Given the description of an element on the screen output the (x, y) to click on. 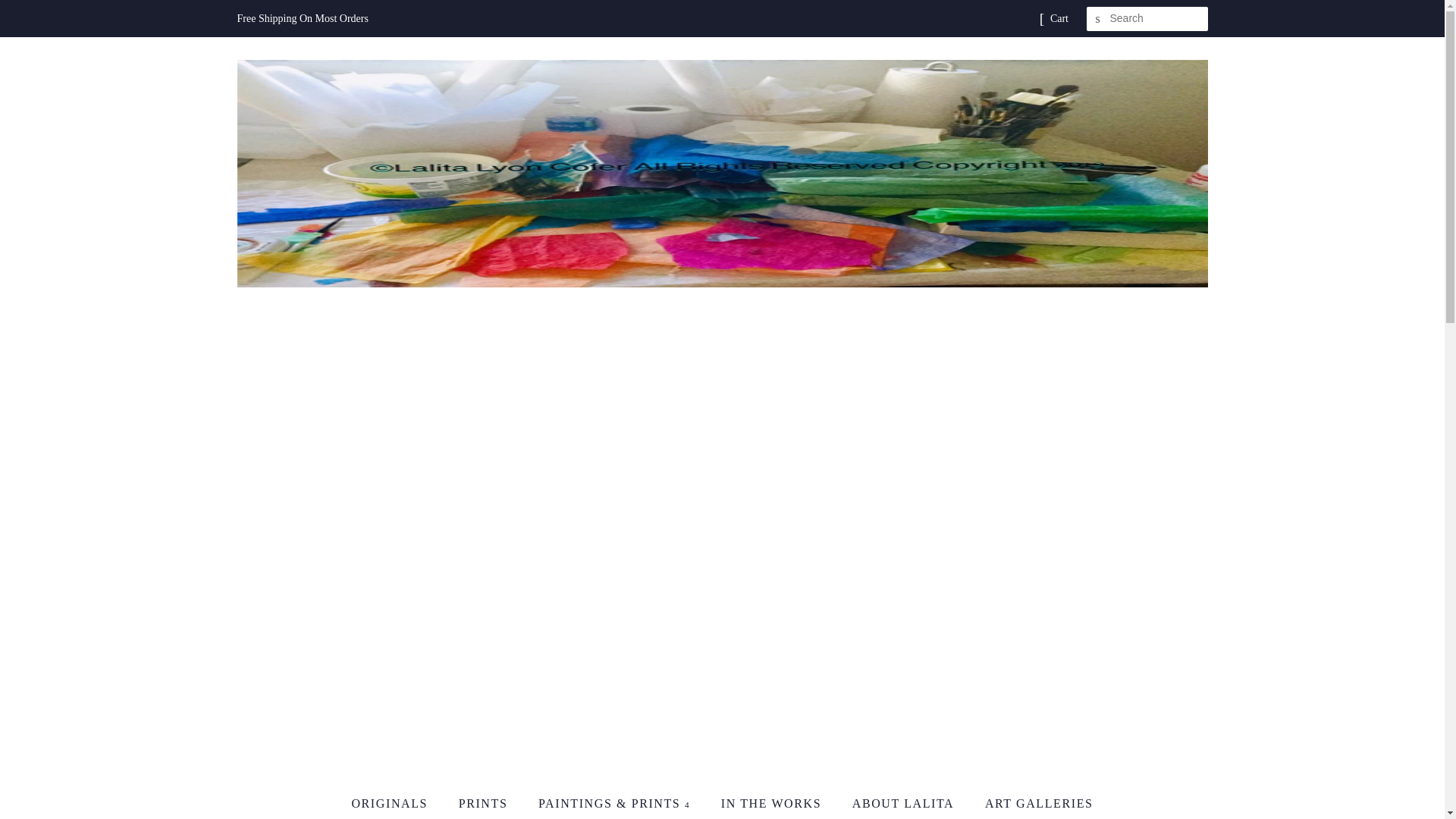
IN THE WORKS (772, 803)
ART GALLERIES (1033, 803)
PRINTS (484, 803)
ABOUT LALITA (905, 803)
Cart (1058, 18)
SEARCH (1097, 18)
ORIGINALS (396, 803)
